Given the description of an element on the screen output the (x, y) to click on. 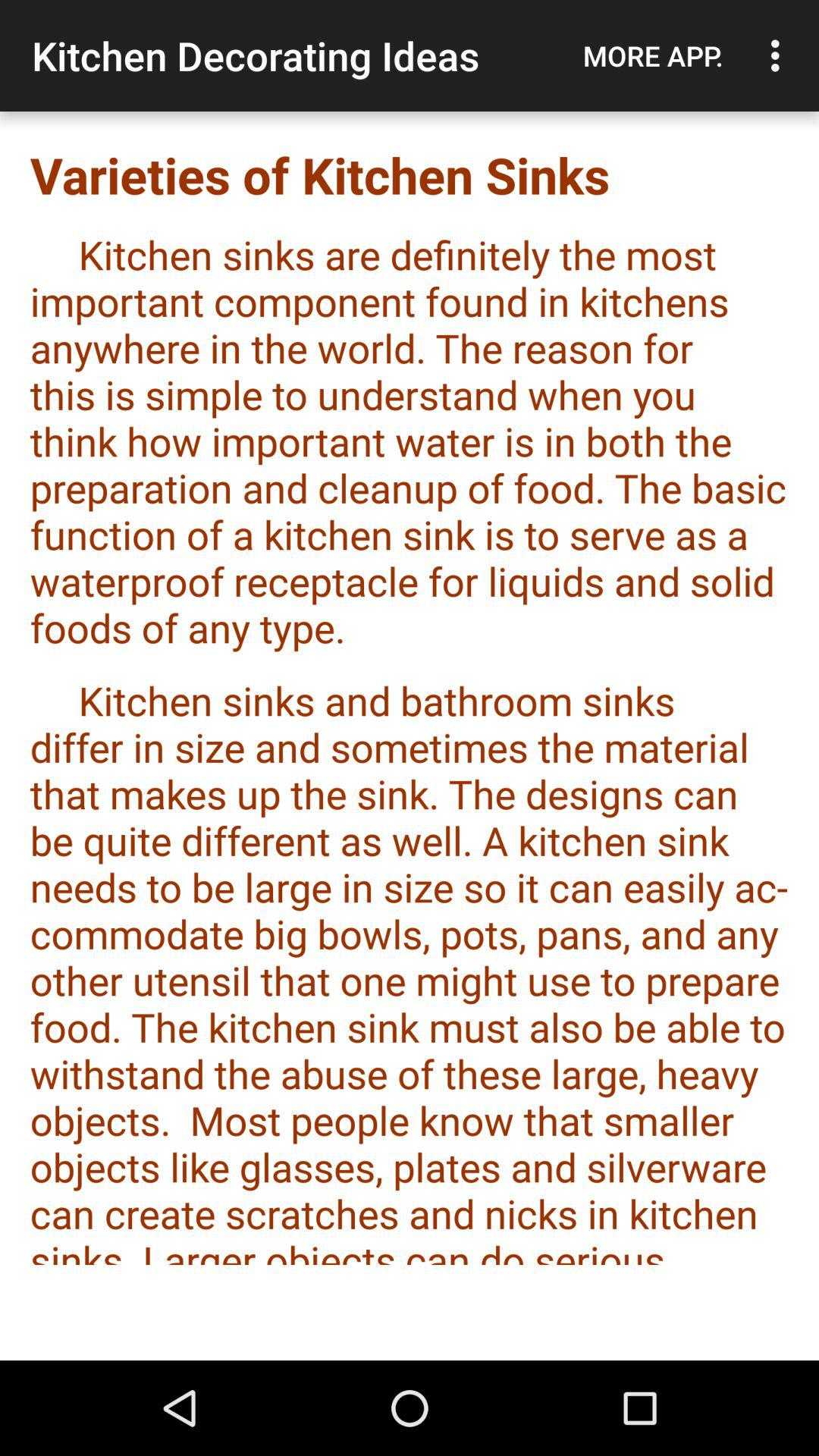
launch item above the varieties of kitchen item (779, 55)
